Given the description of an element on the screen output the (x, y) to click on. 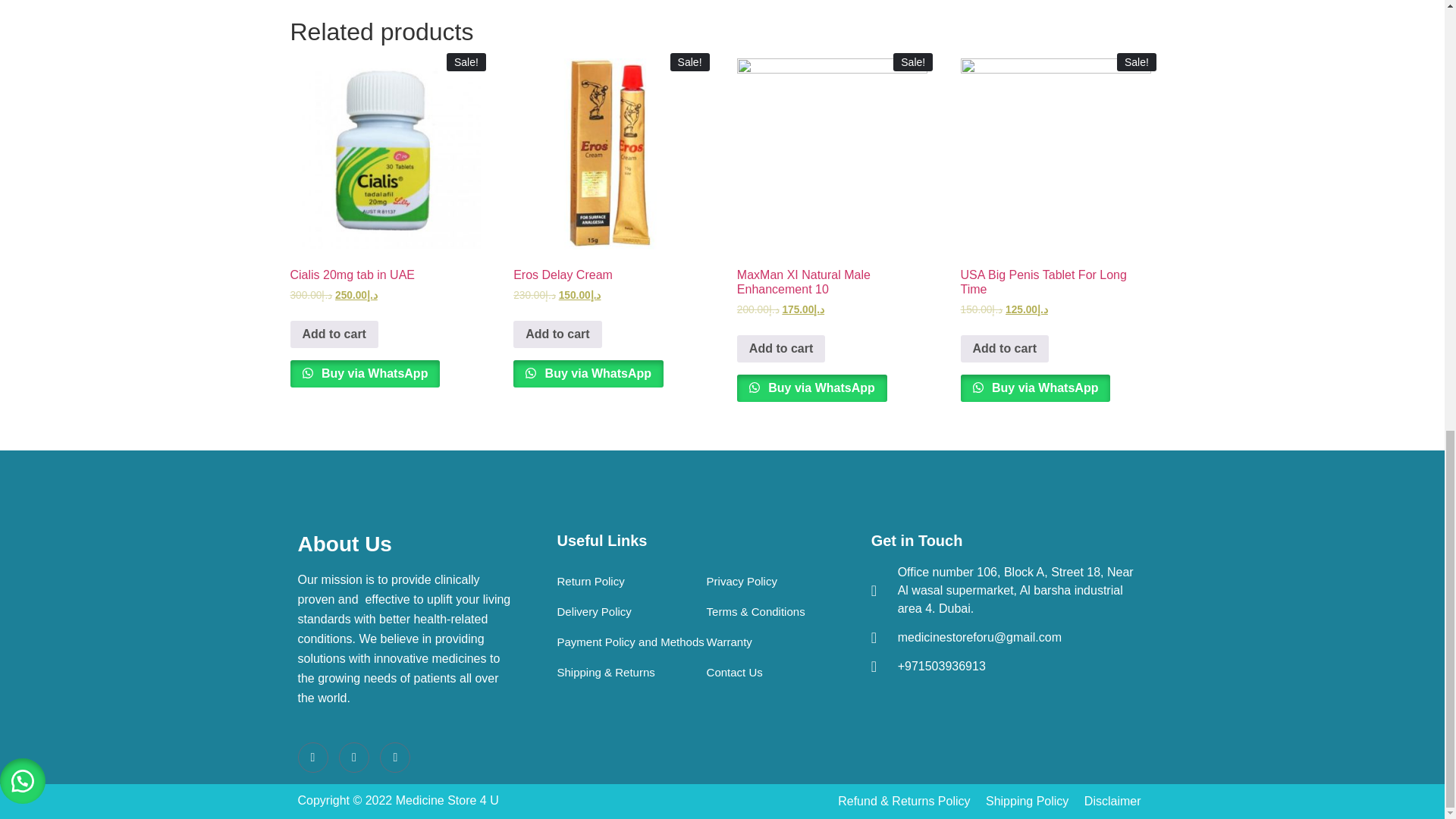
Buy via WhatsApp (811, 388)
Complete order on WhatsApp to buy Eros Delay Cream (588, 373)
Complete order on WhatsApp to buy Cialis 20mg tab in UAE (364, 373)
Add to cart (780, 348)
Buy via WhatsApp (588, 373)
Add to cart (333, 334)
Add to cart (557, 334)
Buy via WhatsApp (364, 373)
